Given the description of an element on the screen output the (x, y) to click on. 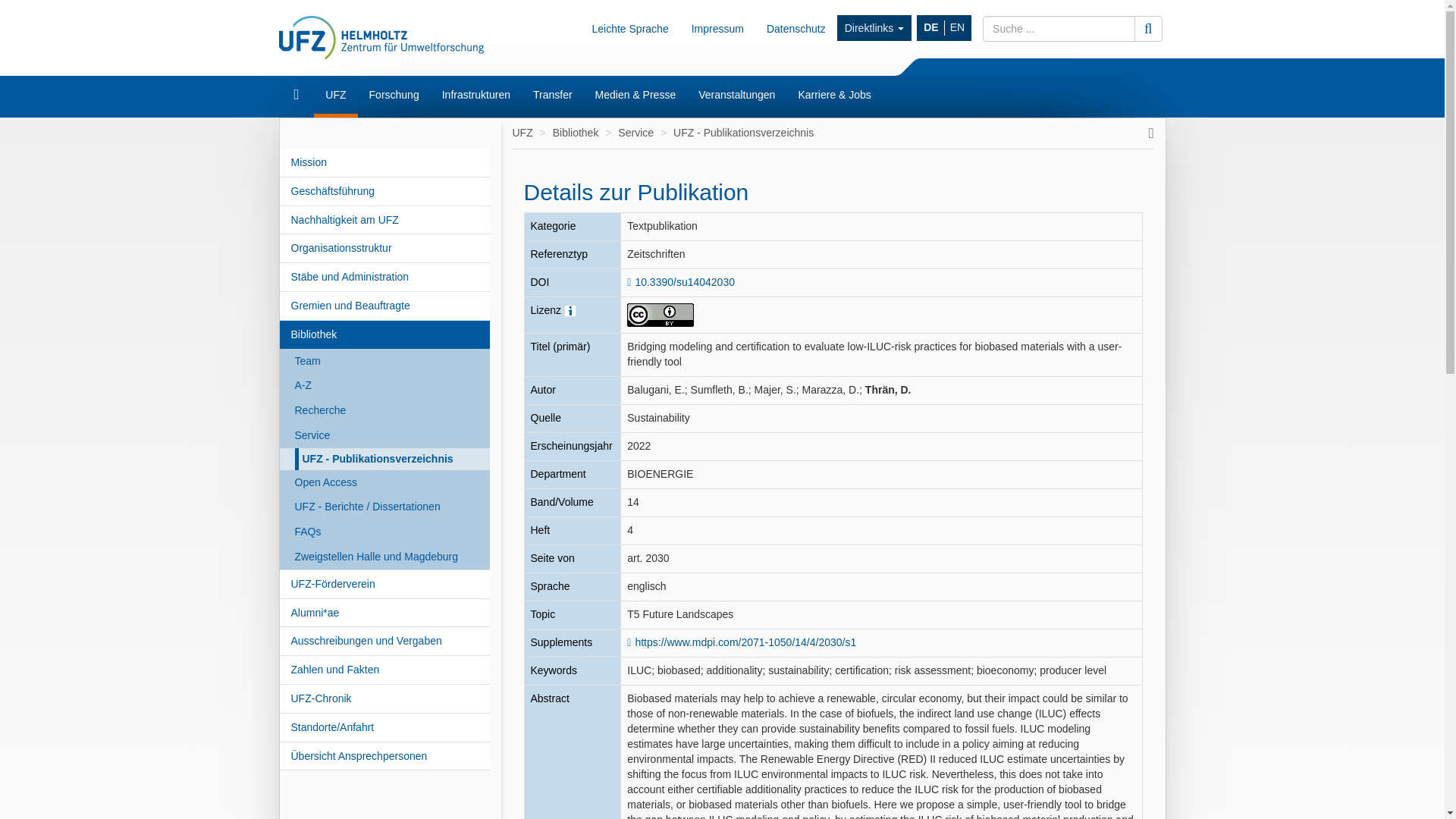
Suchbegriff (1058, 28)
Impressum (717, 28)
Leichte Sprache (629, 28)
Datenschutz (796, 28)
Direktlinks (874, 27)
